Given the description of an element on the screen output the (x, y) to click on. 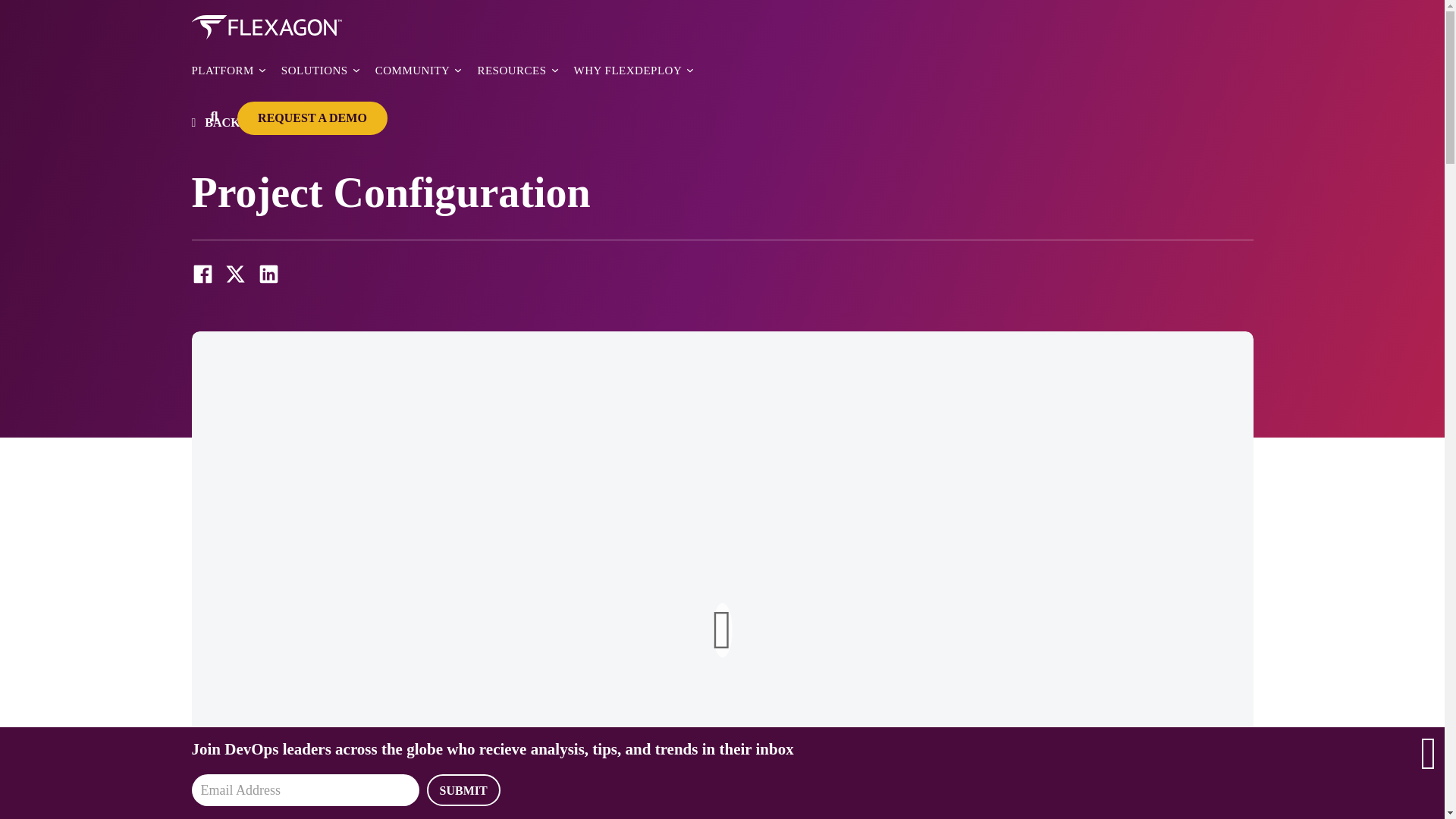
Submit (462, 789)
